Given the description of an element on the screen output the (x, y) to click on. 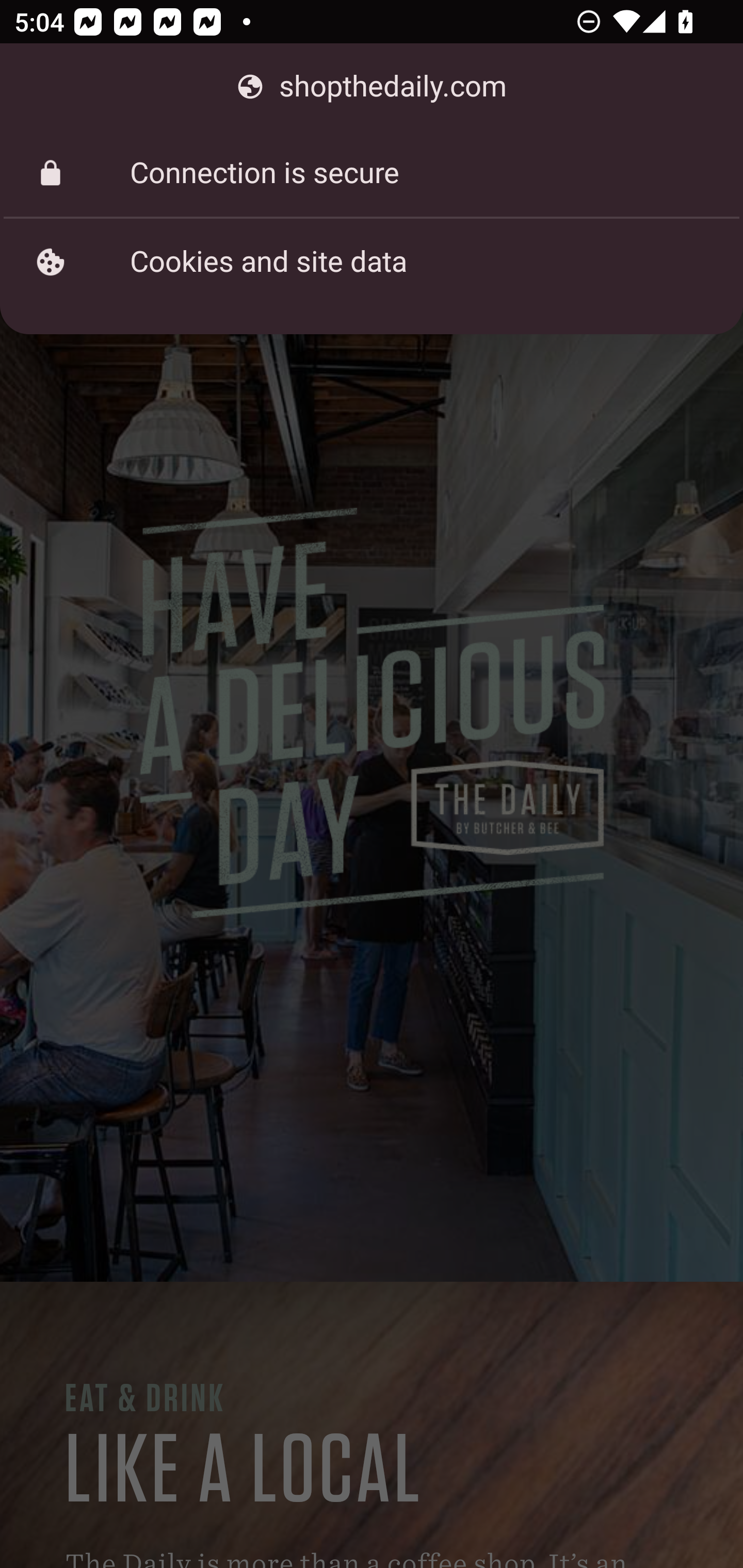
shopthedaily.com (371, 86)
Connection is secure (371, 173)
Cookies and site data (371, 261)
